Given the description of an element on the screen output the (x, y) to click on. 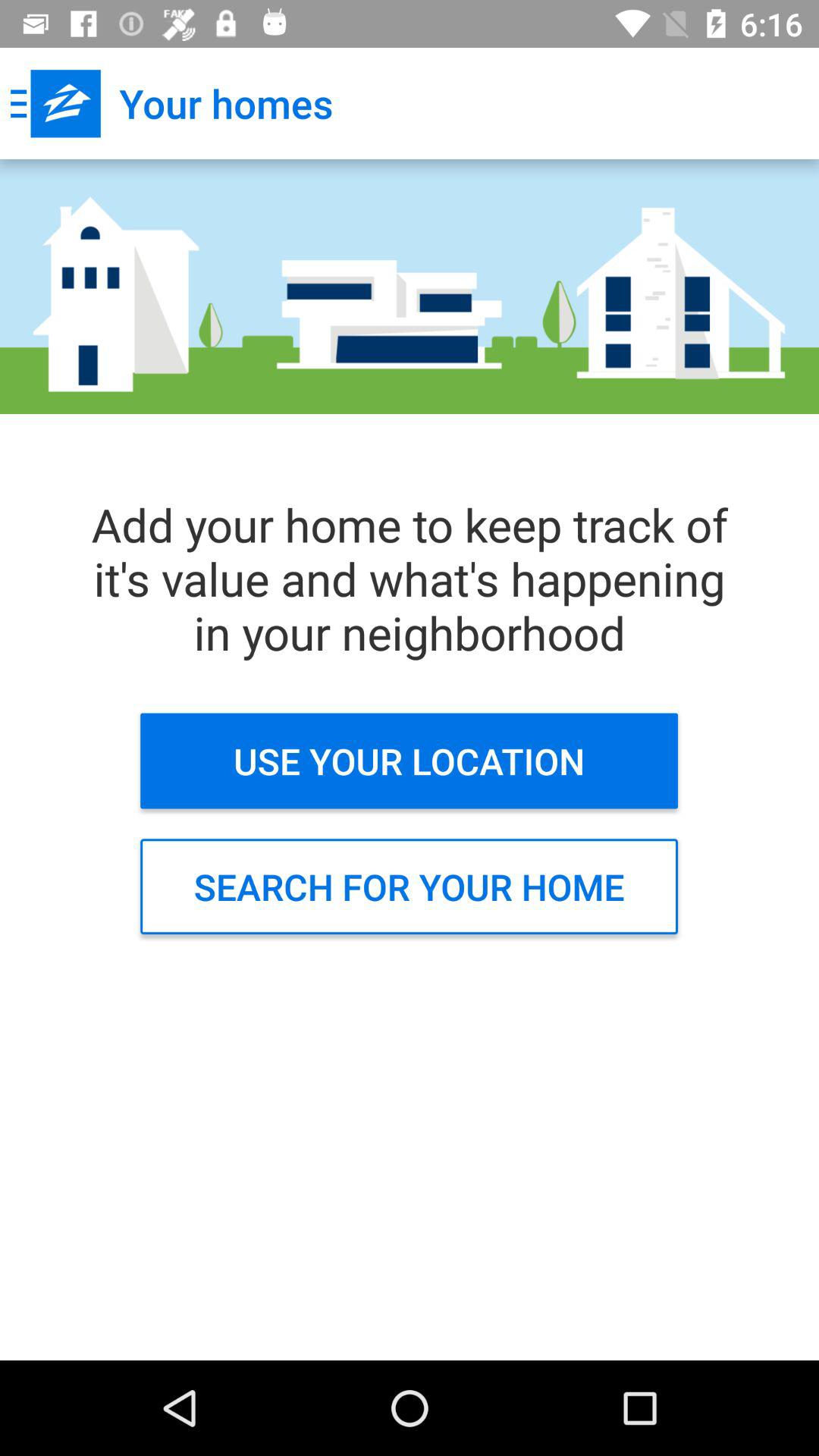
turn on the icon below the use your location item (408, 886)
